Given the description of an element on the screen output the (x, y) to click on. 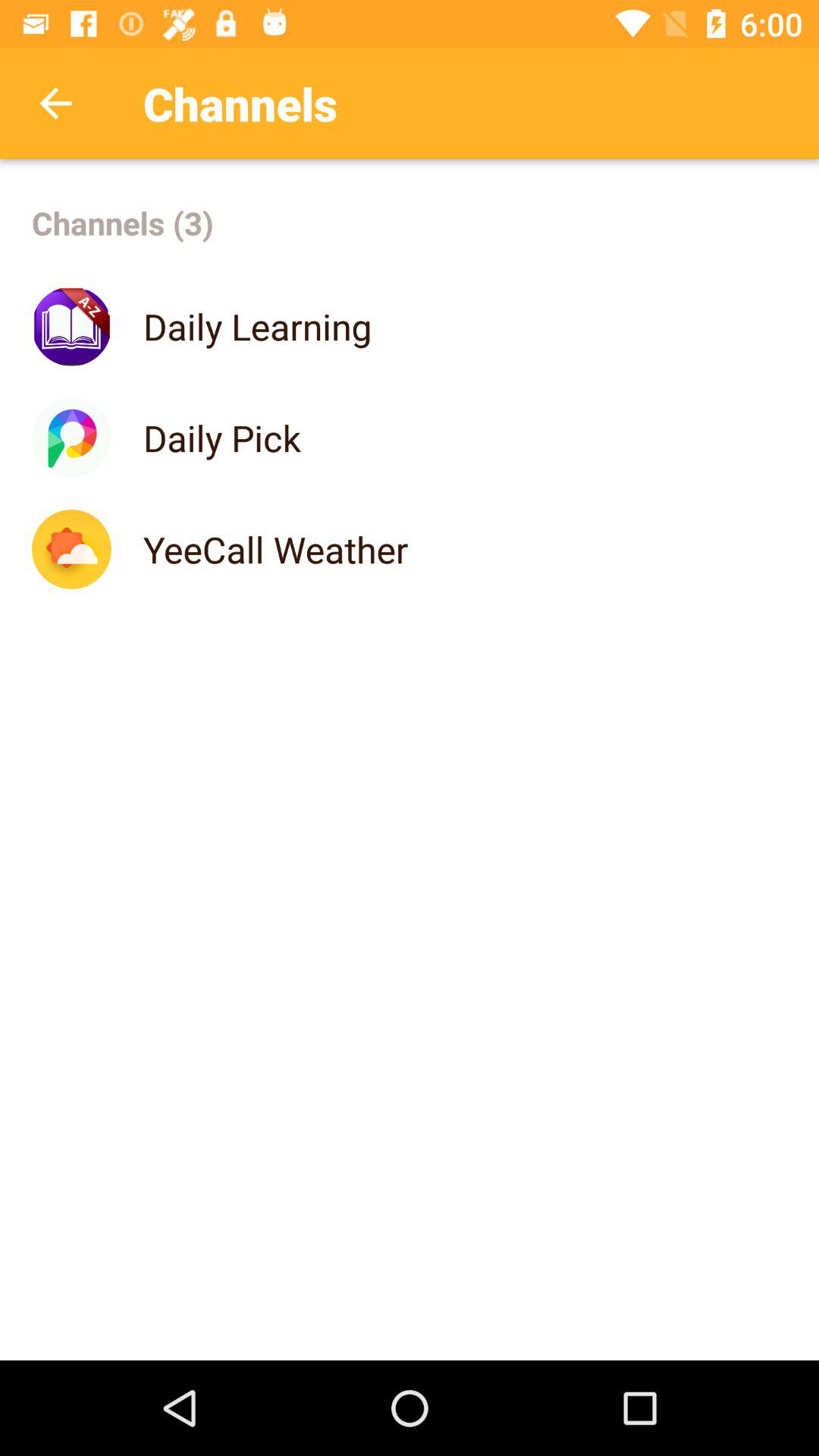
press icon above channels (3) icon (55, 103)
